Given the description of an element on the screen output the (x, y) to click on. 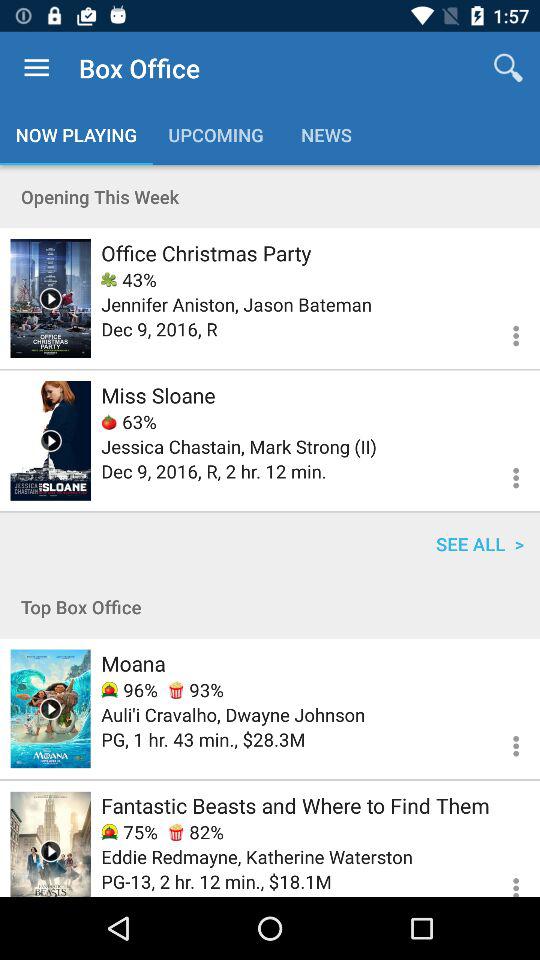
turn on icon below the now playing item (270, 196)
